Given the description of an element on the screen output the (x, y) to click on. 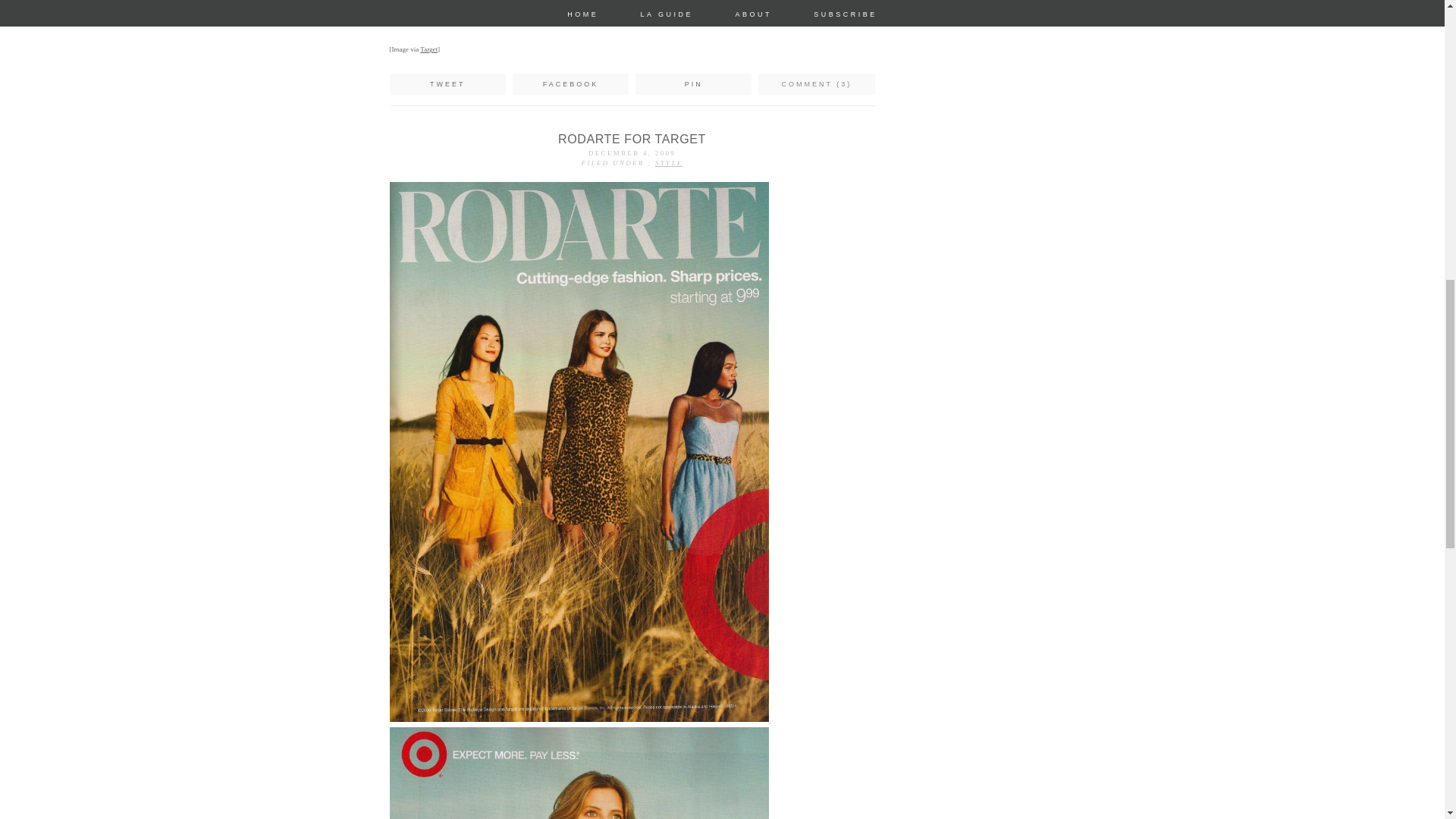
FACEBOOK (570, 83)
Target (429, 48)
rodarte2 (579, 773)
STYLE (668, 162)
Target (429, 48)
RODARTE FOR TARGET (631, 138)
TWEET (446, 83)
PIN (693, 83)
